Given the description of an element on the screen output the (x, y) to click on. 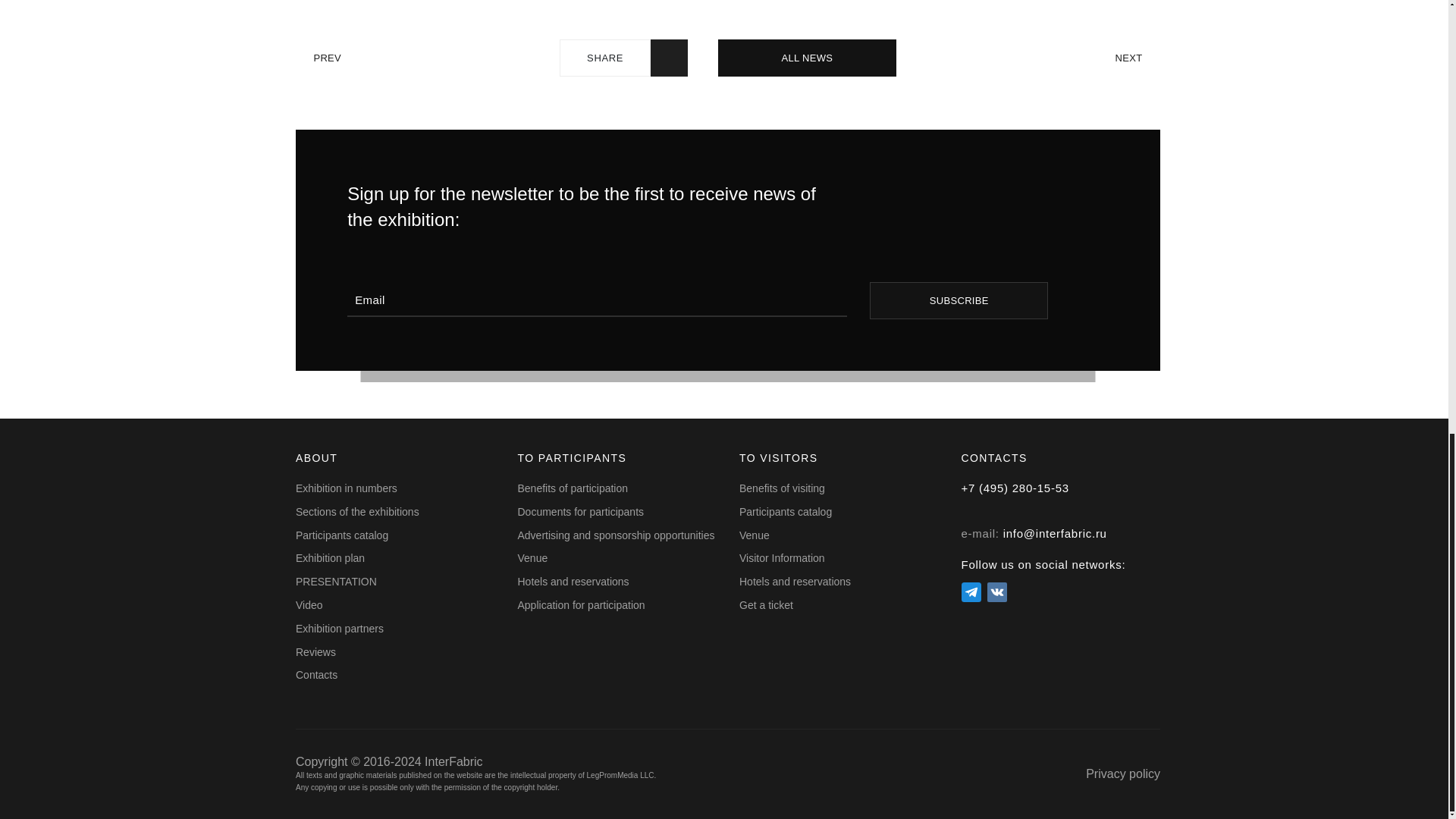
Vk (997, 591)
Telegram (970, 591)
Enter your e-mail (597, 298)
